Given the description of an element on the screen output the (x, y) to click on. 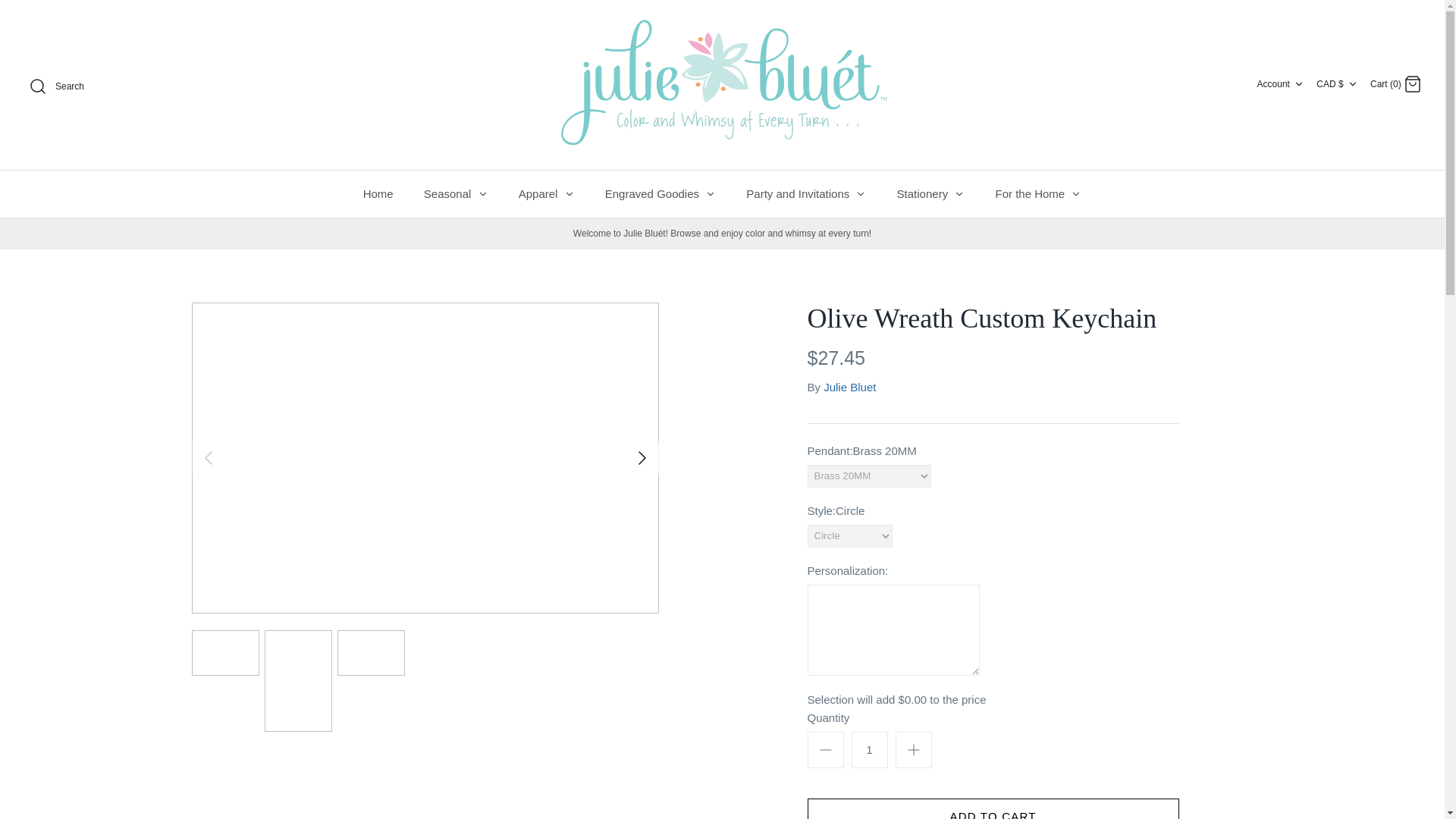
1 (868, 750)
Toggle menu (710, 194)
Add to Cart (991, 808)
Home (378, 193)
Minus (824, 750)
RIGHT (640, 457)
Toggle menu (482, 194)
Down (1299, 83)
Seasonal Toggle menu (456, 193)
LEFT (207, 457)
